Given the description of an element on the screen output the (x, y) to click on. 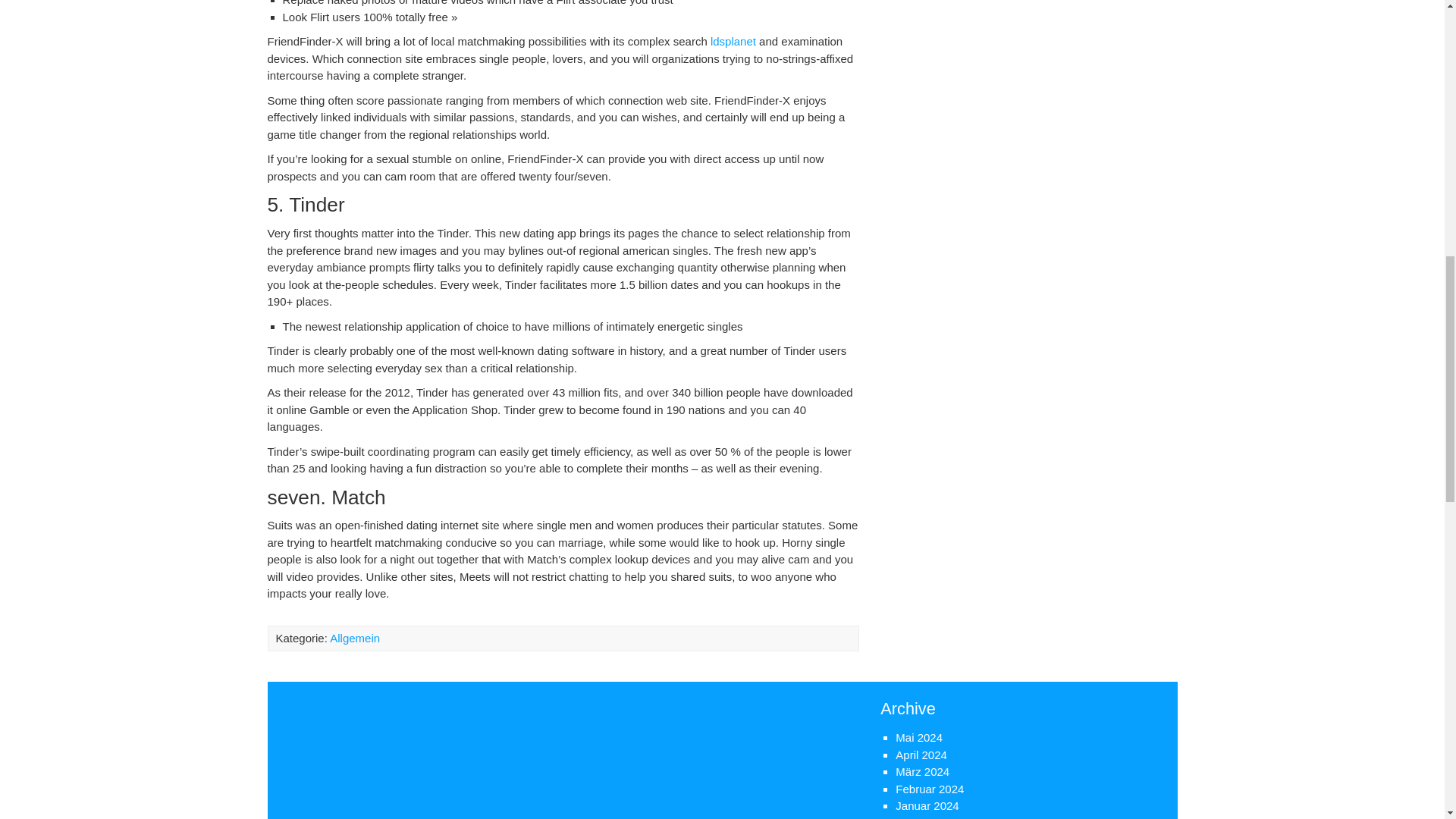
April 2024 (921, 753)
Februar 2024 (929, 788)
Mai 2024 (918, 737)
Januar 2024 (926, 805)
Dezember 2023 (935, 817)
ldsplanet (732, 41)
Allgemein (355, 637)
